Given the description of an element on the screen output the (x, y) to click on. 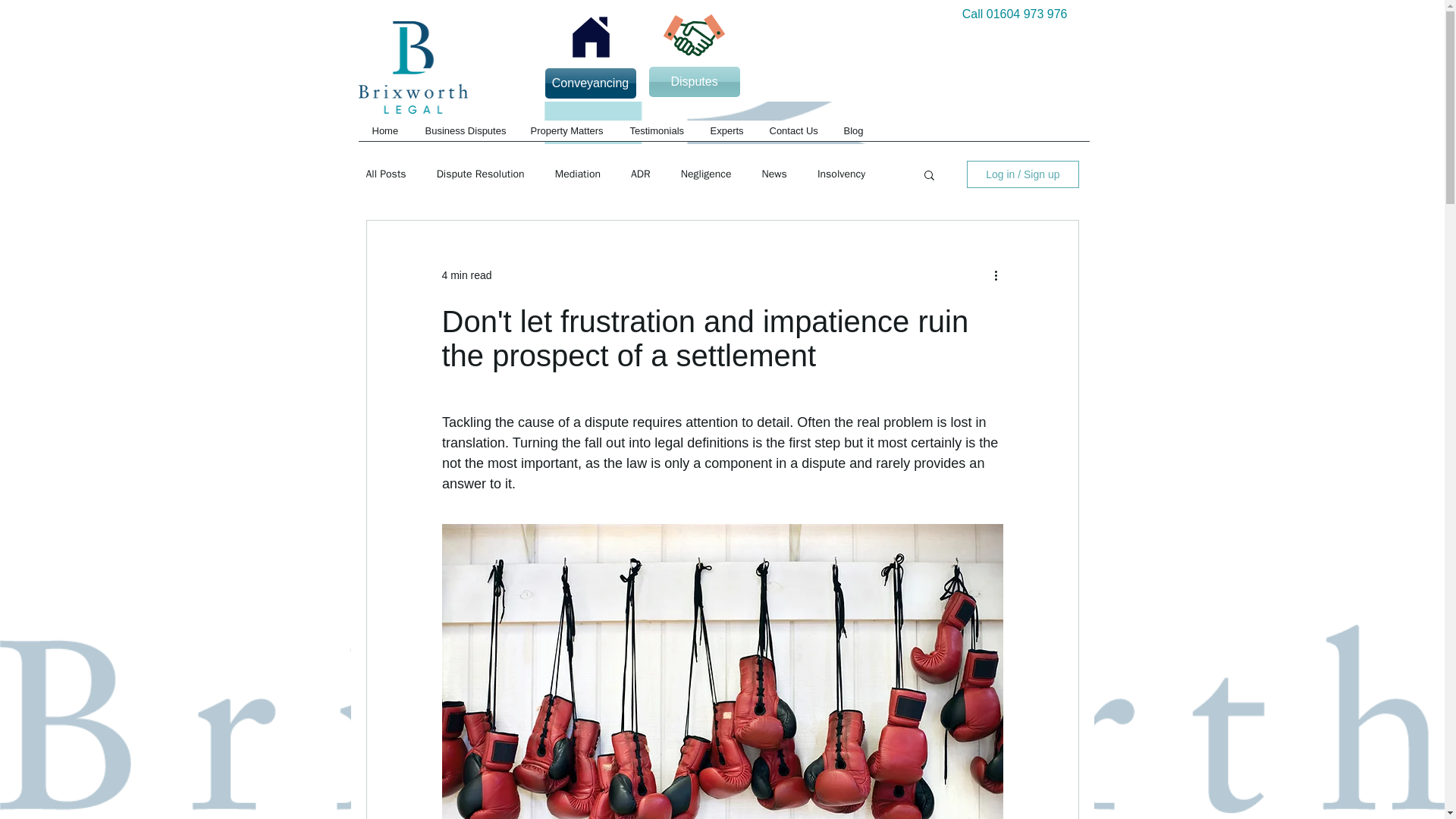
Home (384, 135)
ADR (640, 173)
4 min read (466, 274)
Business Disputes (463, 135)
Contact Us (792, 135)
Insolvency (840, 173)
Mediation (576, 173)
Testimonials (655, 135)
Brixworth Legal Homepage (412, 67)
Blog (852, 135)
Negligence (706, 173)
Disputes (694, 81)
News (774, 173)
Experts (725, 135)
Property Matters (565, 135)
